Given the description of an element on the screen output the (x, y) to click on. 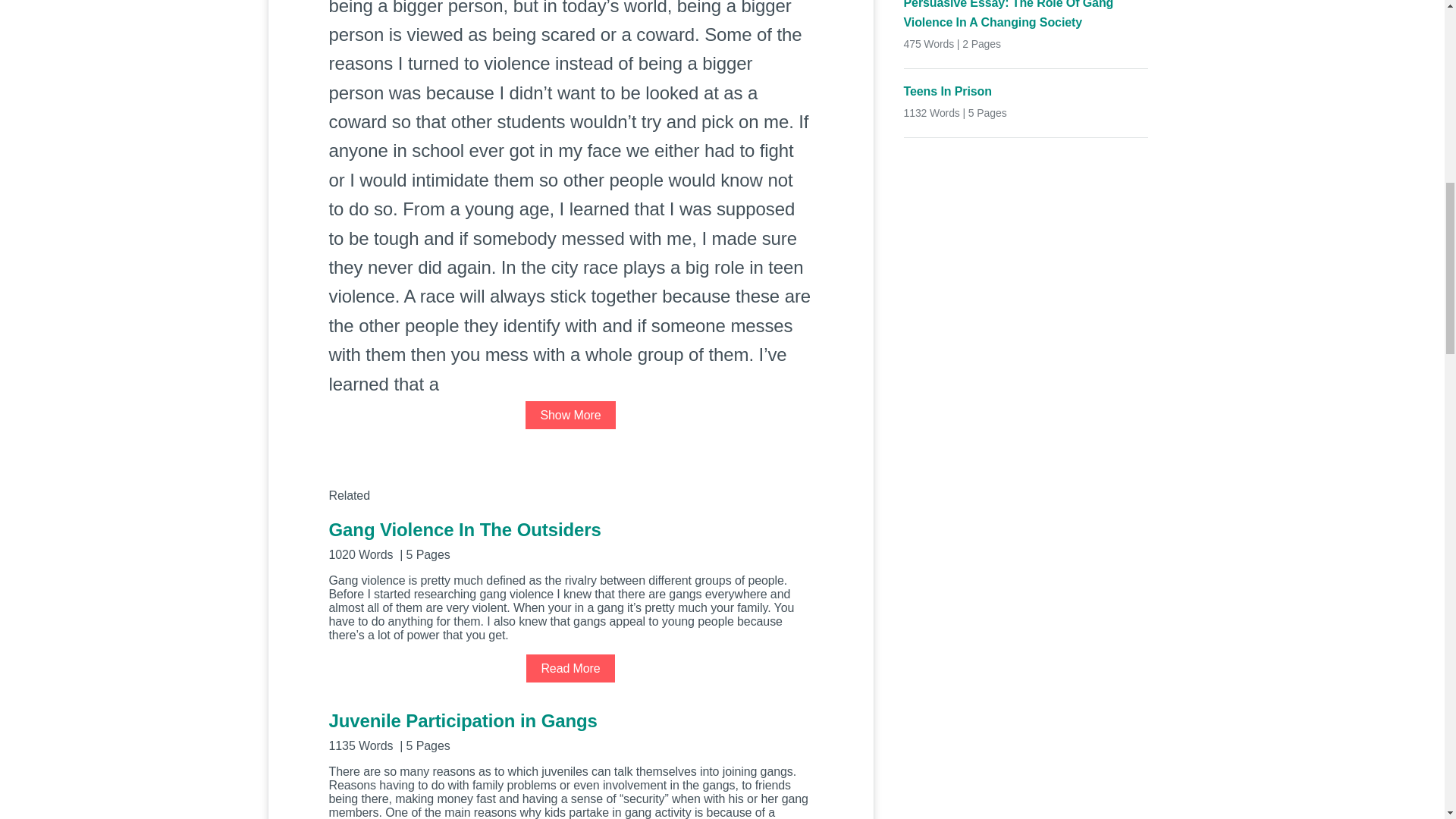
Teens In Prison (1026, 91)
Gang Violence In The Outsiders (570, 539)
Juvenile Participation in Gangs (570, 730)
Show More (569, 415)
Read More (569, 668)
